Given the description of an element on the screen output the (x, y) to click on. 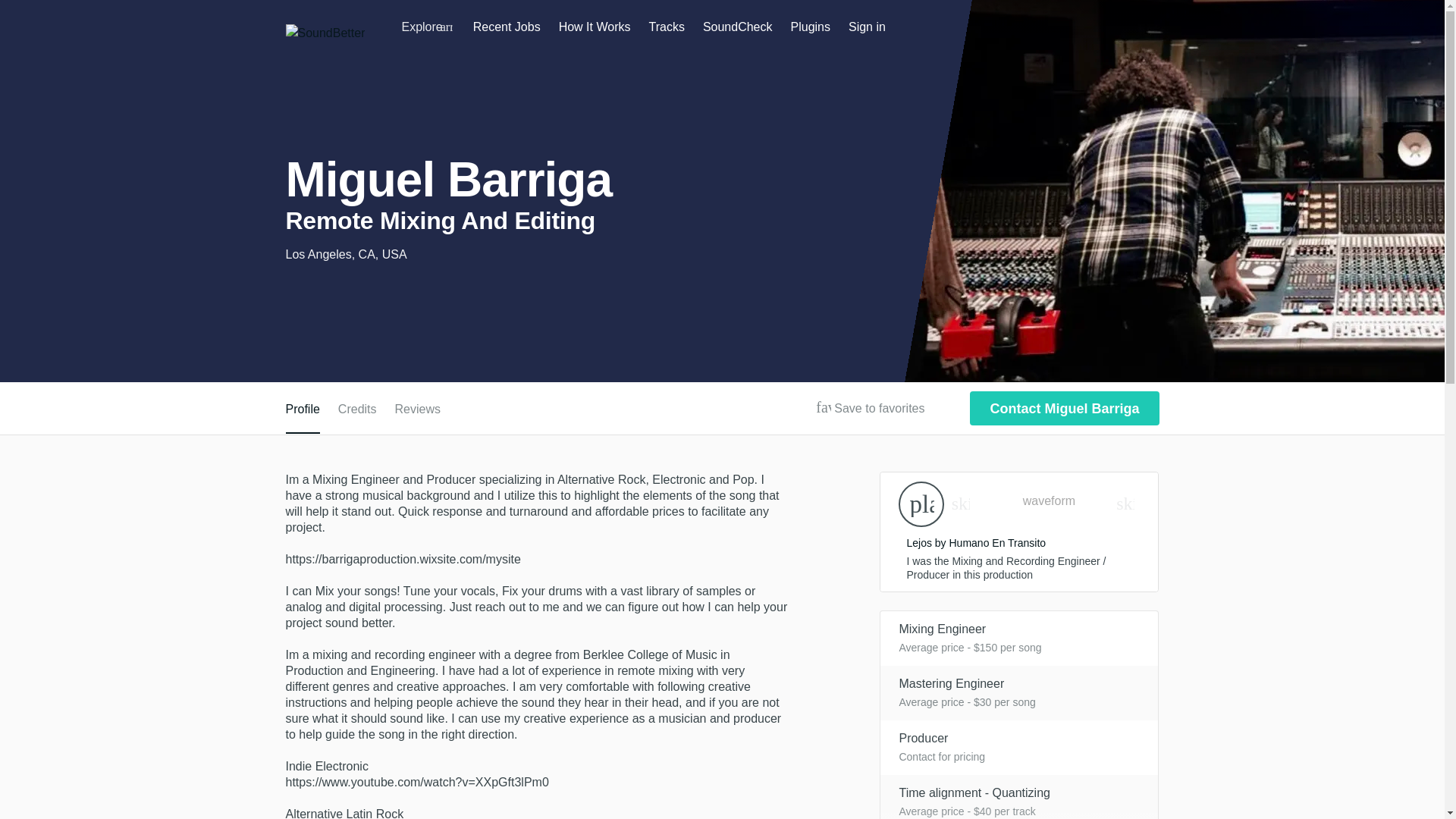
SoundBetter (325, 33)
